Given the description of an element on the screen output the (x, y) to click on. 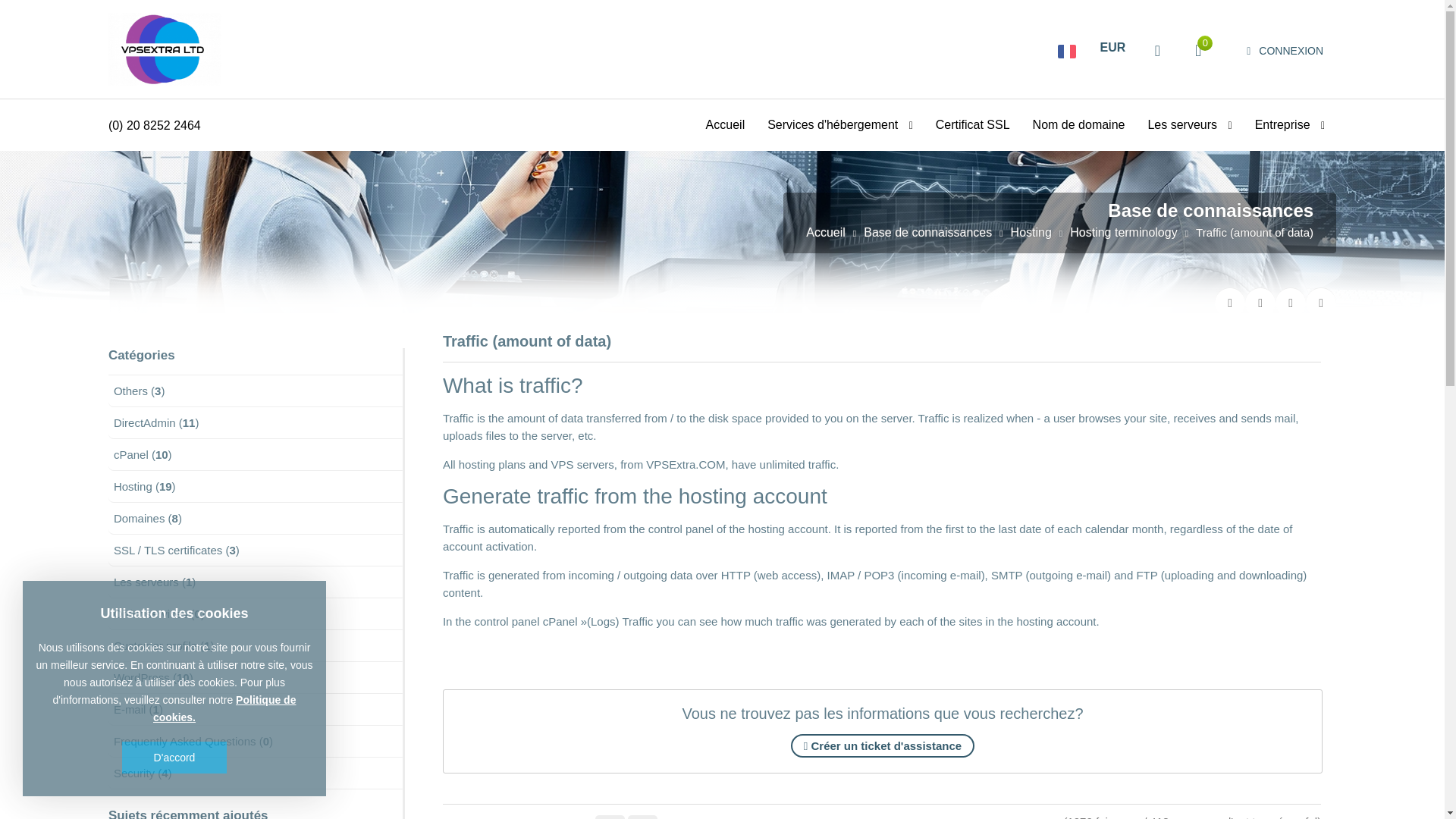
Logo (164, 49)
Accueil (725, 124)
EUR (1113, 47)
0 (1198, 50)
CONNEXION (1284, 51)
